Given the description of an element on the screen output the (x, y) to click on. 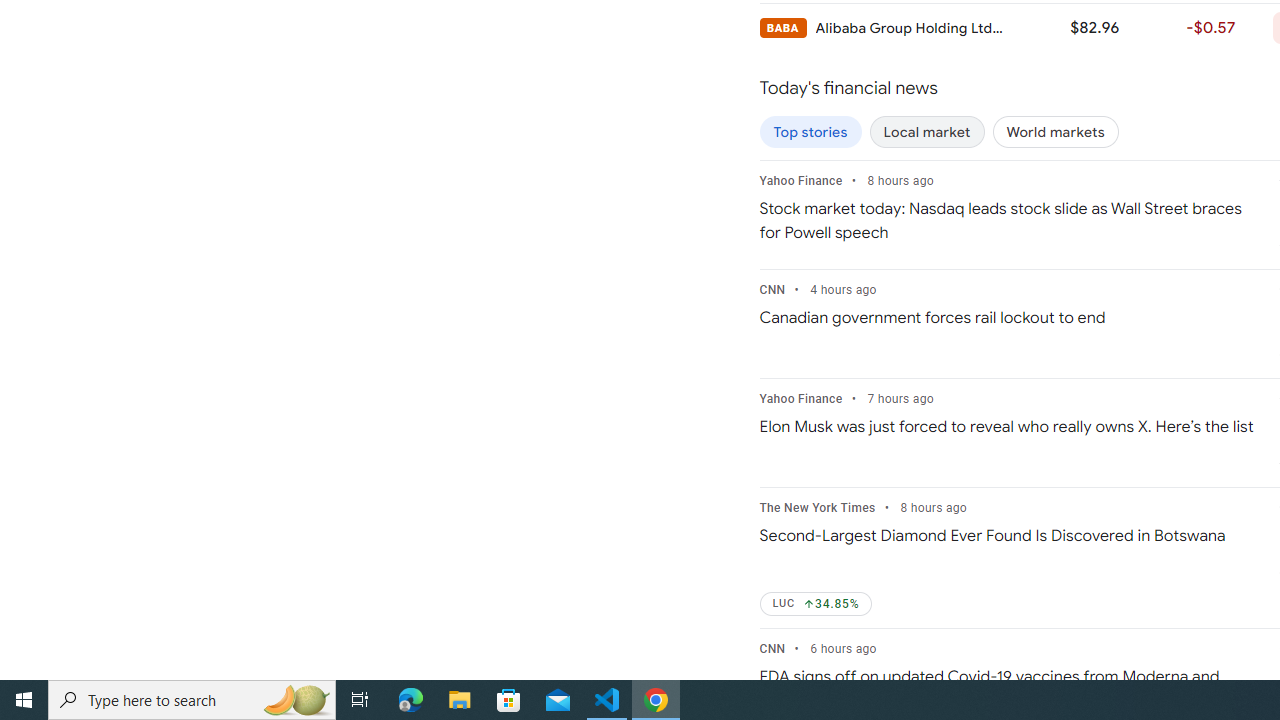
Top stories (810, 131)
Local market (927, 131)
World markets (1055, 131)
LUC Up by 34.85% (815, 603)
